Given the description of an element on the screen output the (x, y) to click on. 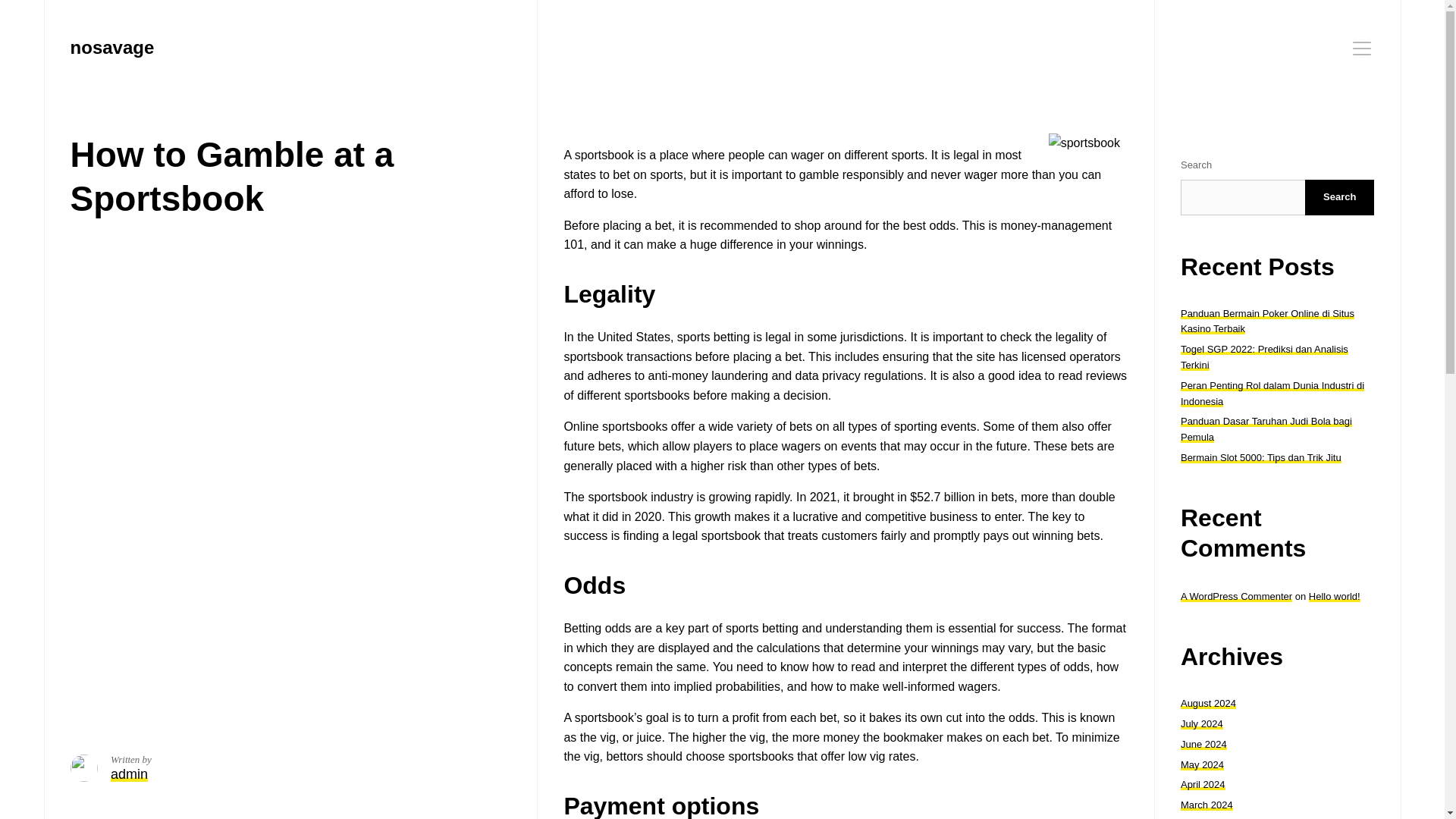
Peran Penting Rol dalam Dunia Industri di Indonesia (1272, 393)
A WordPress Commenter (1236, 595)
June 2024 (1203, 744)
April 2024 (1202, 784)
Hello world! (1333, 595)
August 2024 (1208, 703)
Search (1339, 197)
March 2024 (1206, 804)
admin (129, 773)
Togel SGP 2022: Prediksi dan Analisis Terkini (1264, 357)
